Given the description of an element on the screen output the (x, y) to click on. 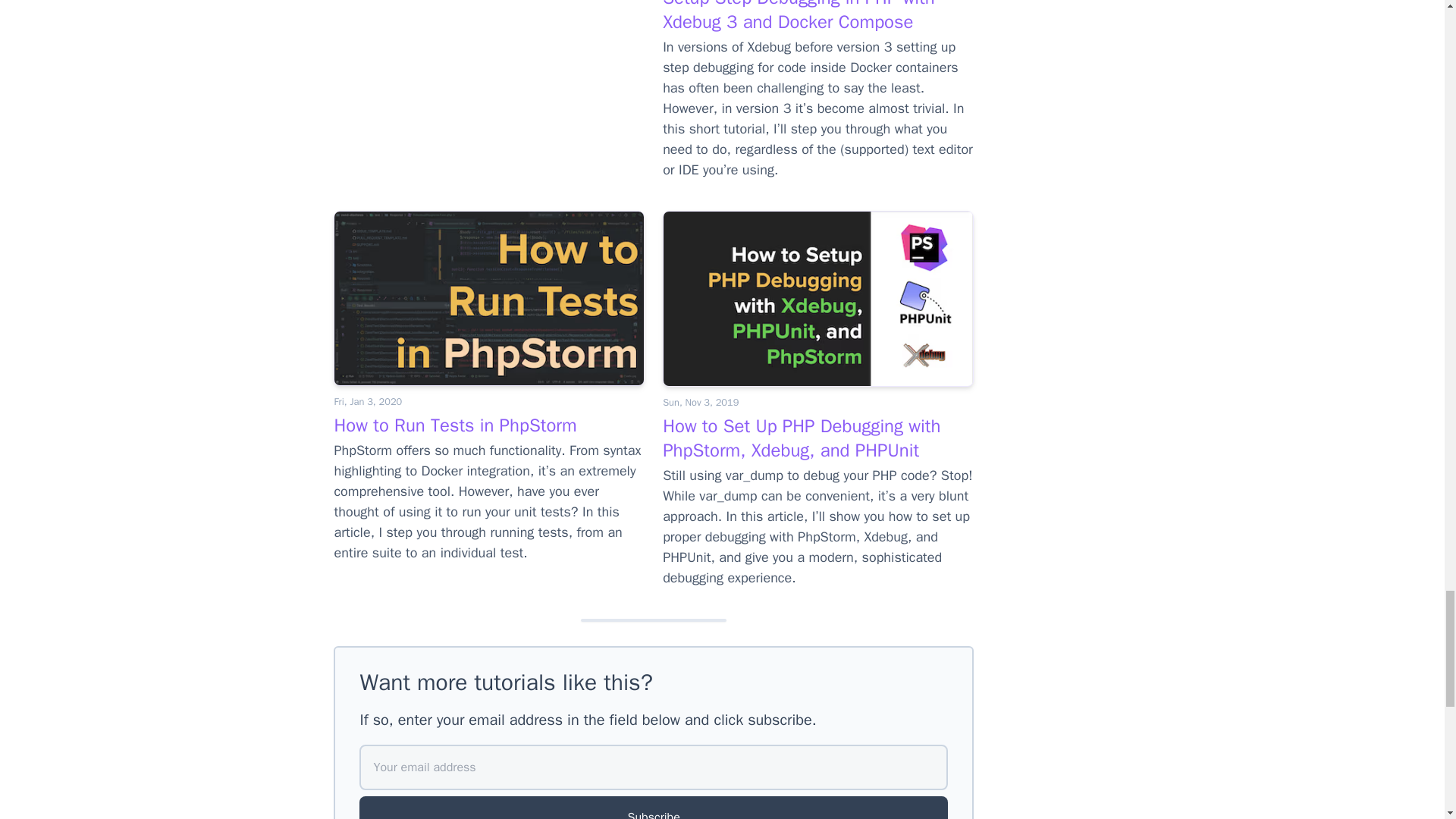
How to Run Tests in PhpStorm (454, 425)
